Given the description of an element on the screen output the (x, y) to click on. 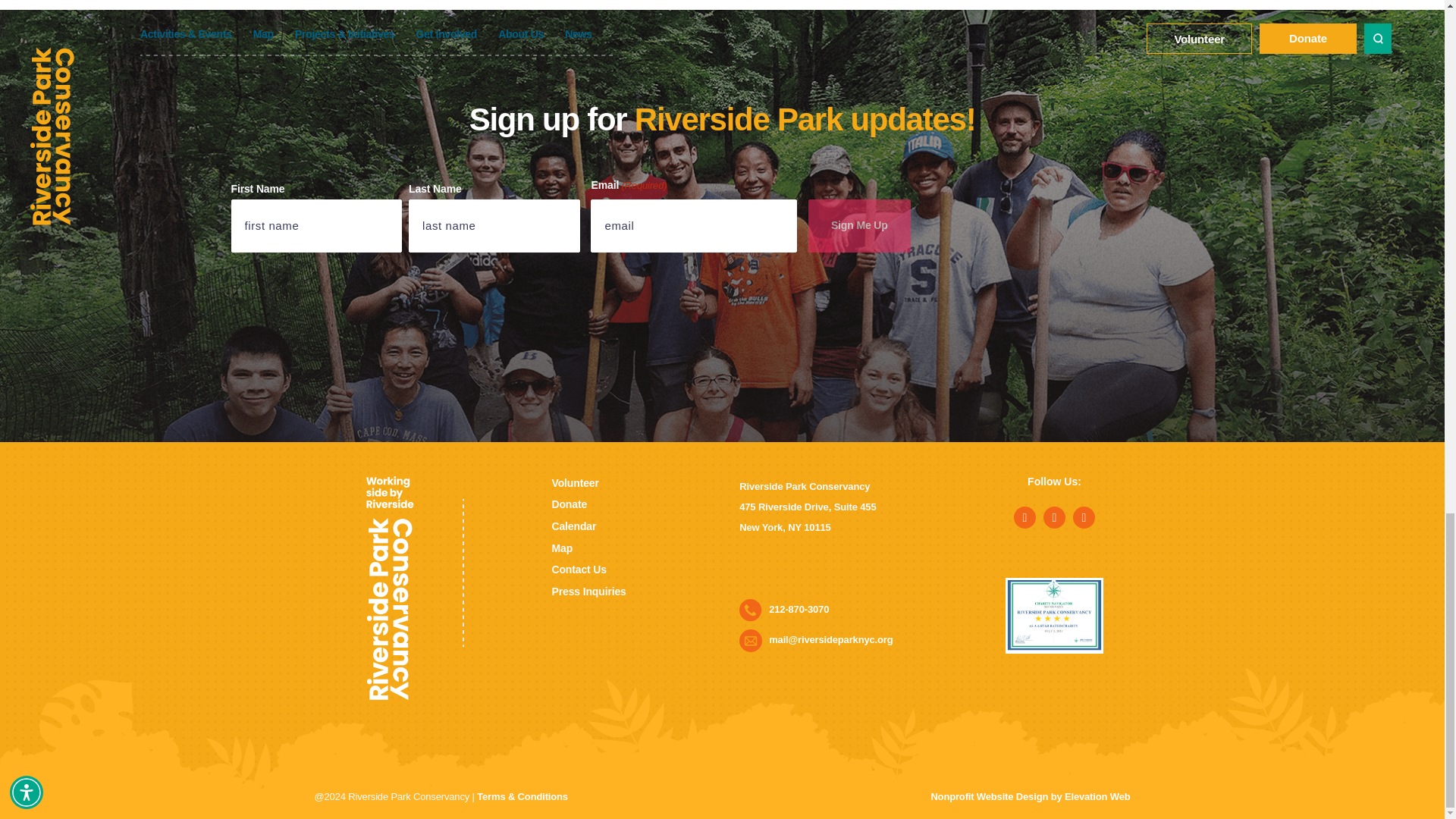
Sign Me Up (859, 225)
